Given the description of an element on the screen output the (x, y) to click on. 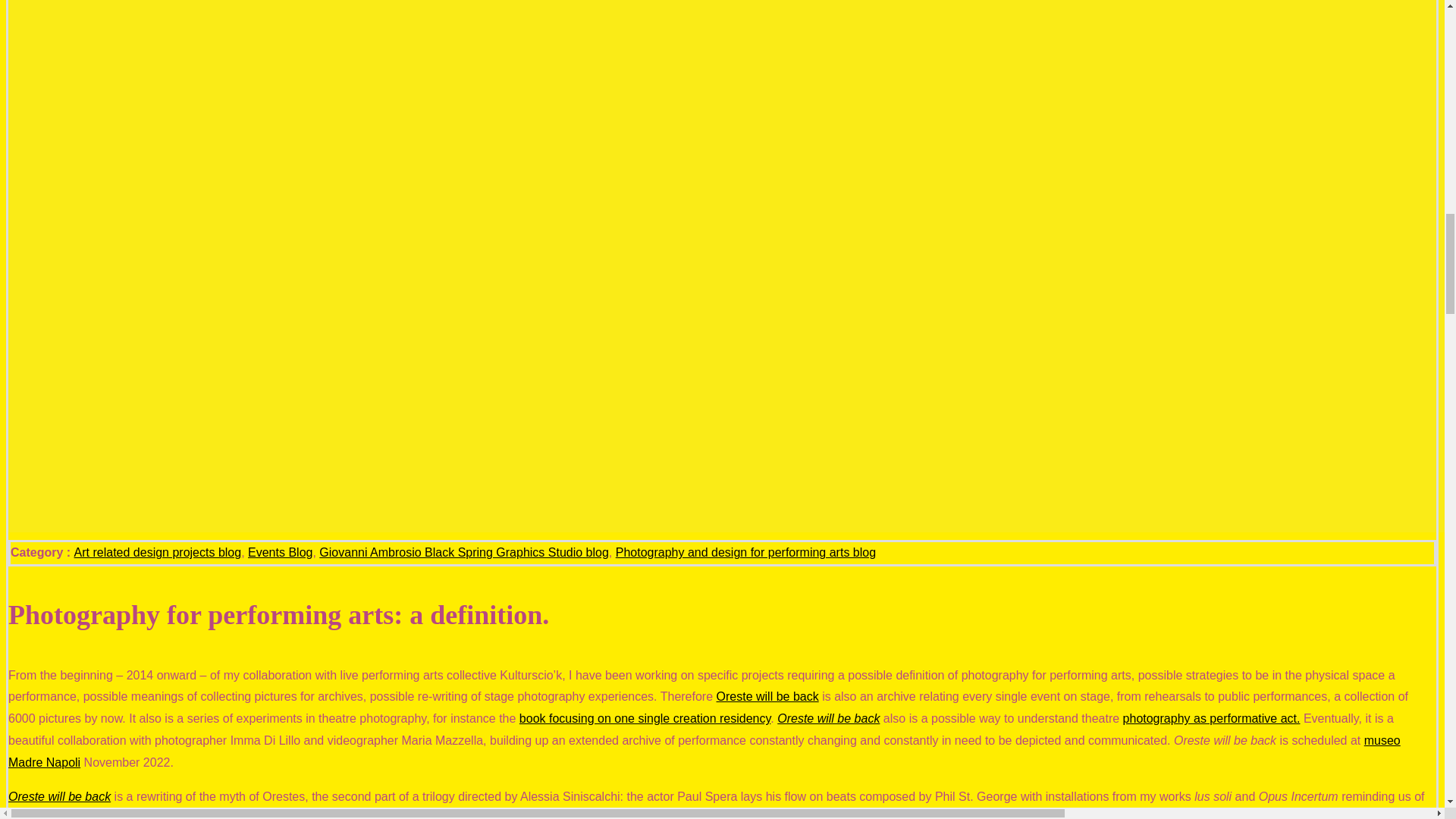
Oreste will be back (59, 796)
Oreste will be back (828, 717)
photography as performative act. (1211, 717)
museo Madre Napoli (704, 751)
Oreste will be back (767, 696)
book focusing on one single creation residency (644, 717)
Art related design projects blog (157, 552)
Events Blog (280, 552)
Giovanni Ambrosio Black Spring Graphics Studio blog (463, 552)
Photography and design for performing arts blog (745, 552)
